Given the description of an element on the screen output the (x, y) to click on. 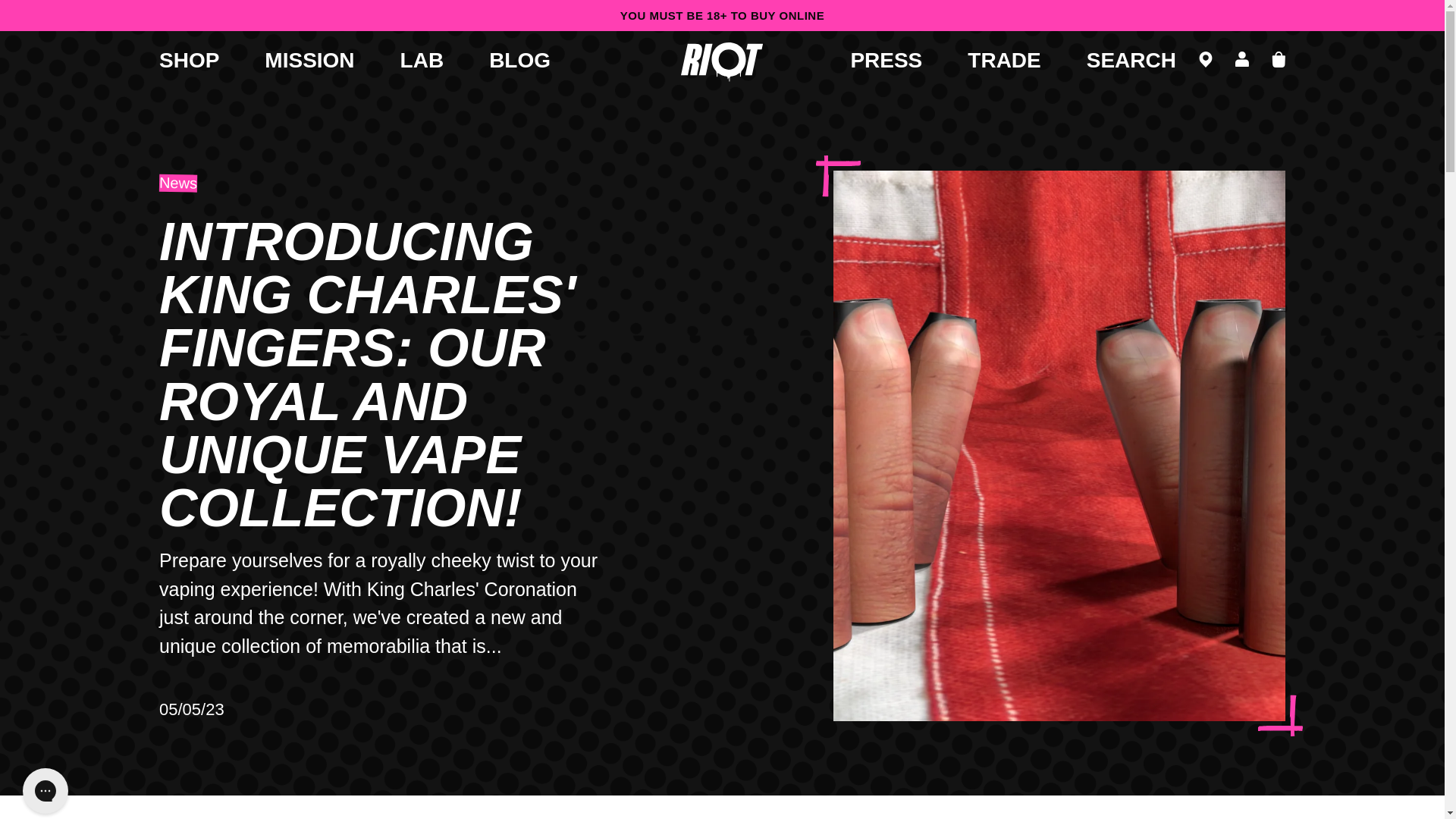
TRADE (1004, 60)
PRESS (885, 60)
MISSION (308, 60)
SHOP (188, 61)
LAB (422, 60)
SEARCH (1131, 61)
Gorgias live chat messenger (44, 790)
BLOG (519, 60)
